Given the description of an element on the screen output the (x, y) to click on. 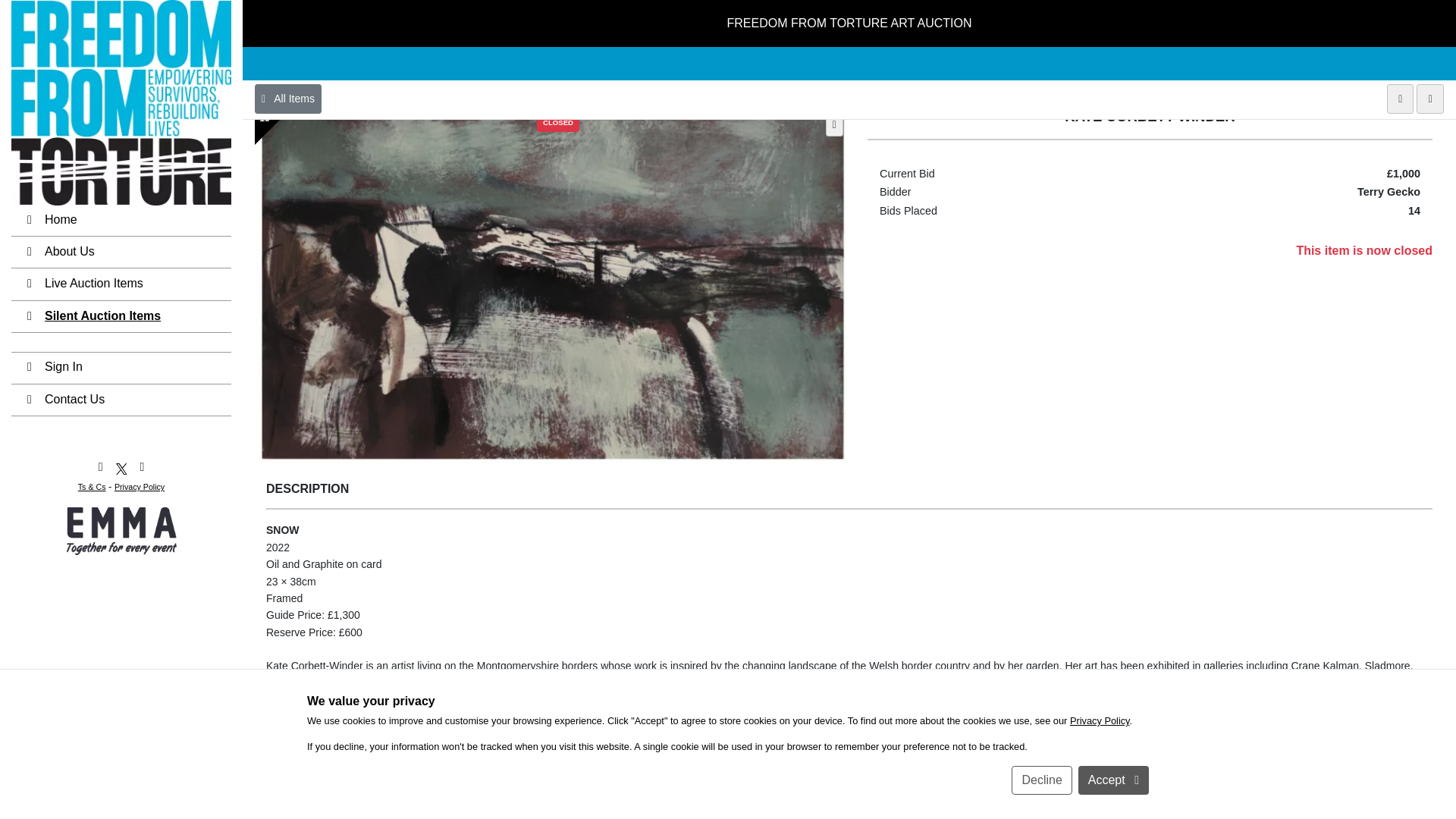
Home (121, 194)
Live Auction Items (121, 258)
Contact Us (121, 374)
All Items (287, 73)
Silent Auction Items (121, 291)
About Us (121, 226)
Privacy Policy (139, 461)
Accept (1113, 754)
Privacy Policy (1099, 695)
Sign In (121, 341)
Decline (1041, 754)
